Given the description of an element on the screen output the (x, y) to click on. 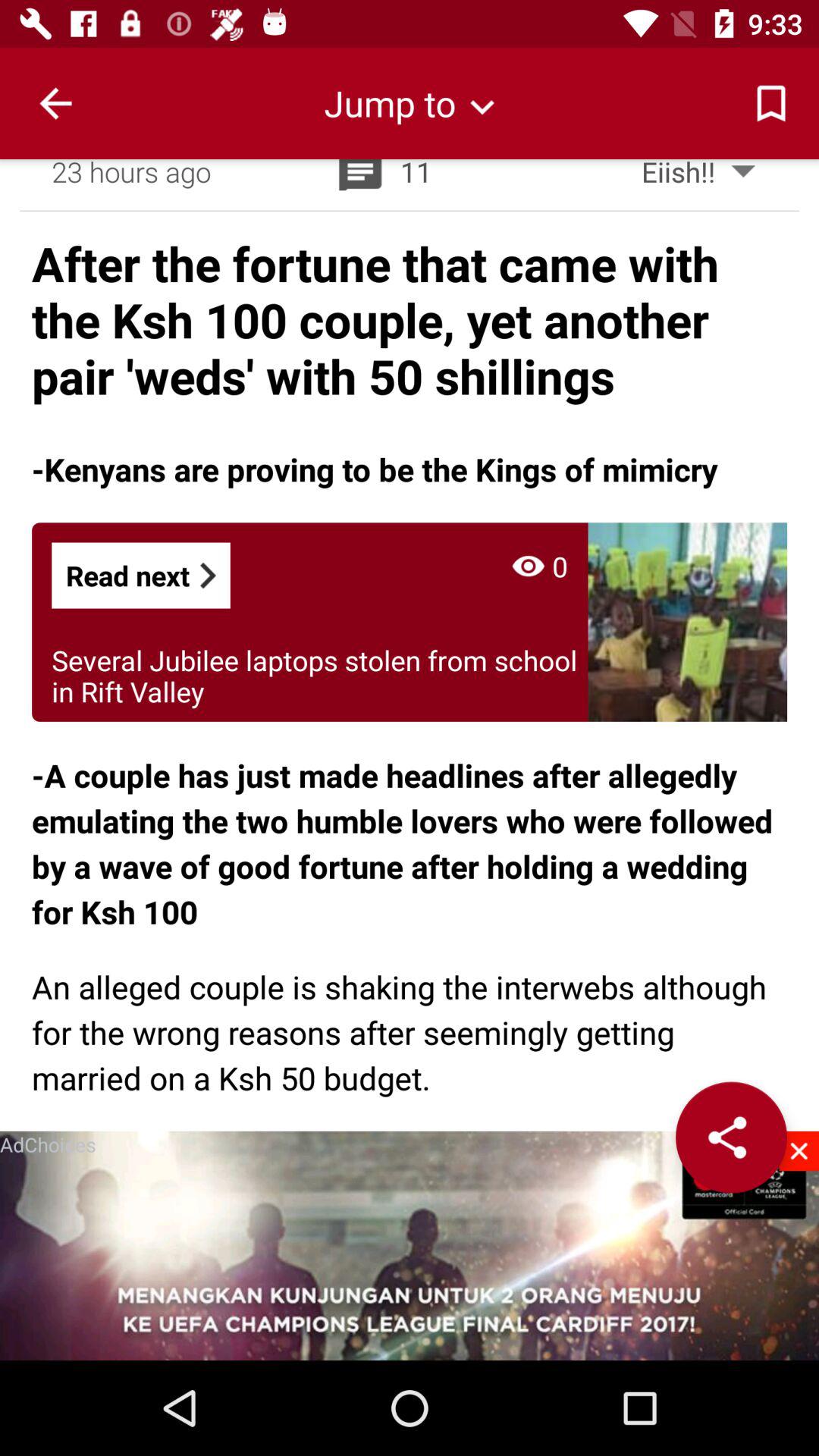
scroll until the kenyans are proving (374, 468)
